Given the description of an element on the screen output the (x, y) to click on. 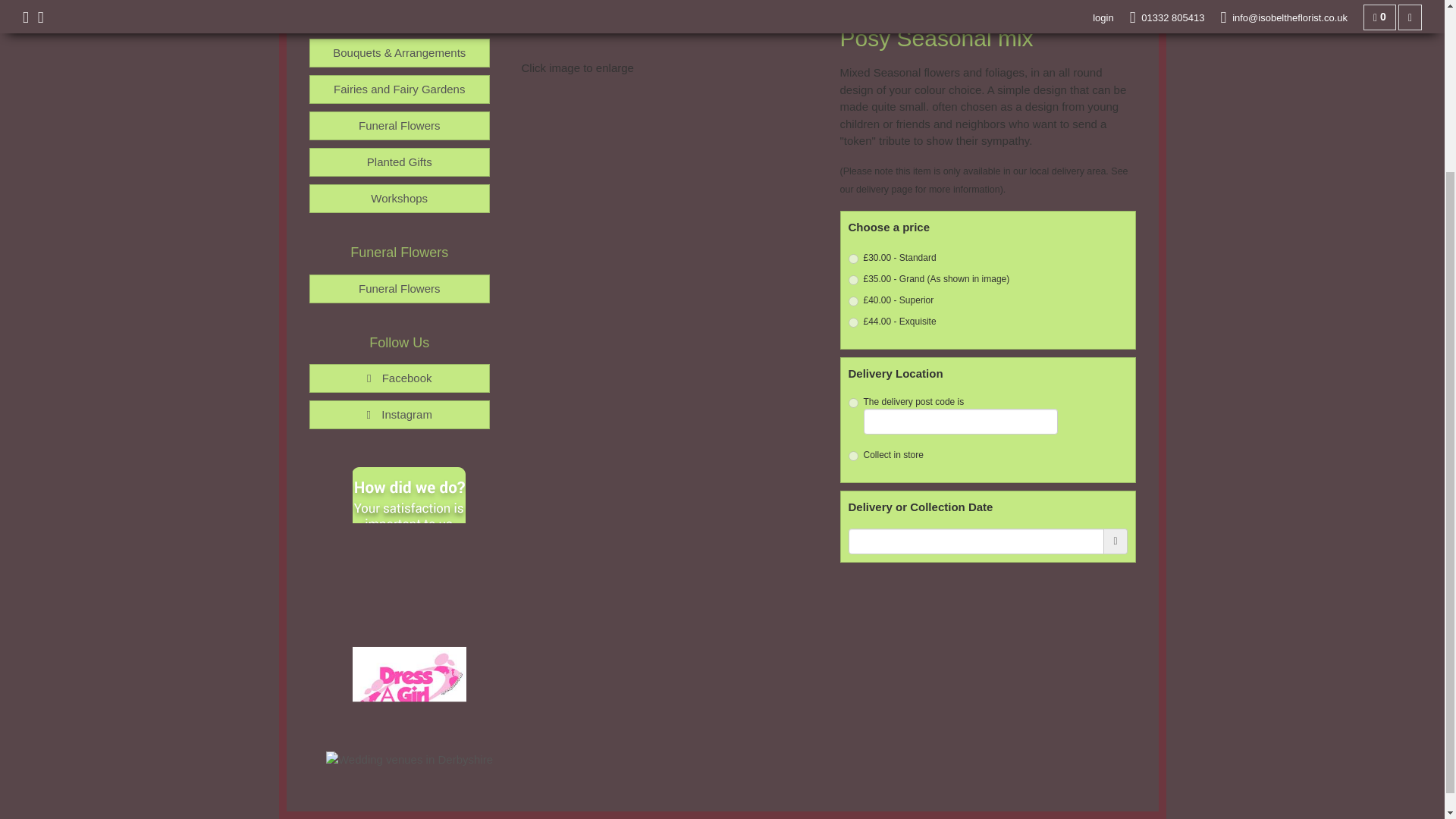
30.00 (852, 258)
3 (852, 456)
40.00 (852, 301)
44.00 (852, 322)
1 (852, 402)
35.00 (852, 280)
